Given the description of an element on the screen output the (x, y) to click on. 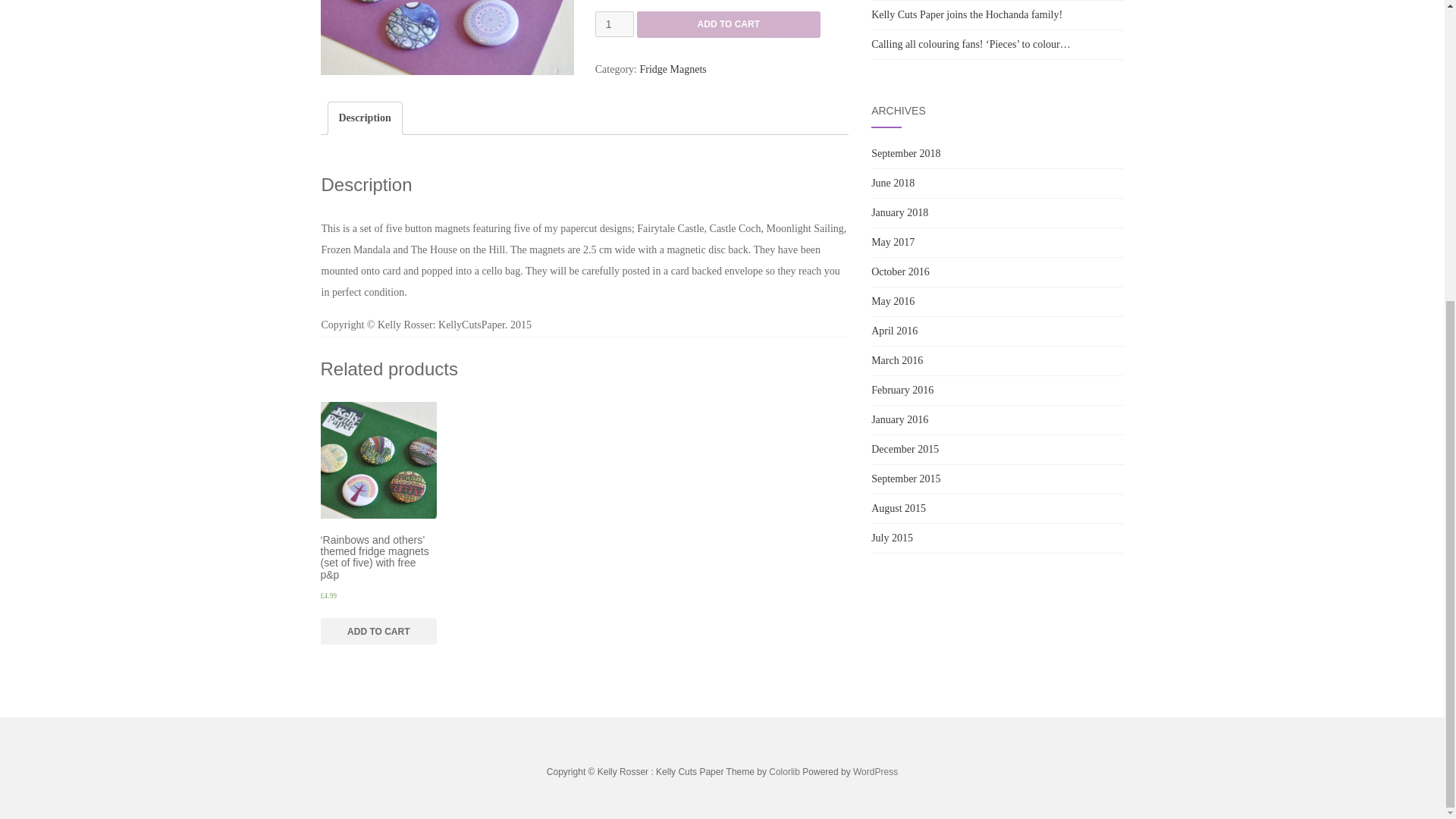
1 (614, 23)
